Given the description of an element on the screen output the (x, y) to click on. 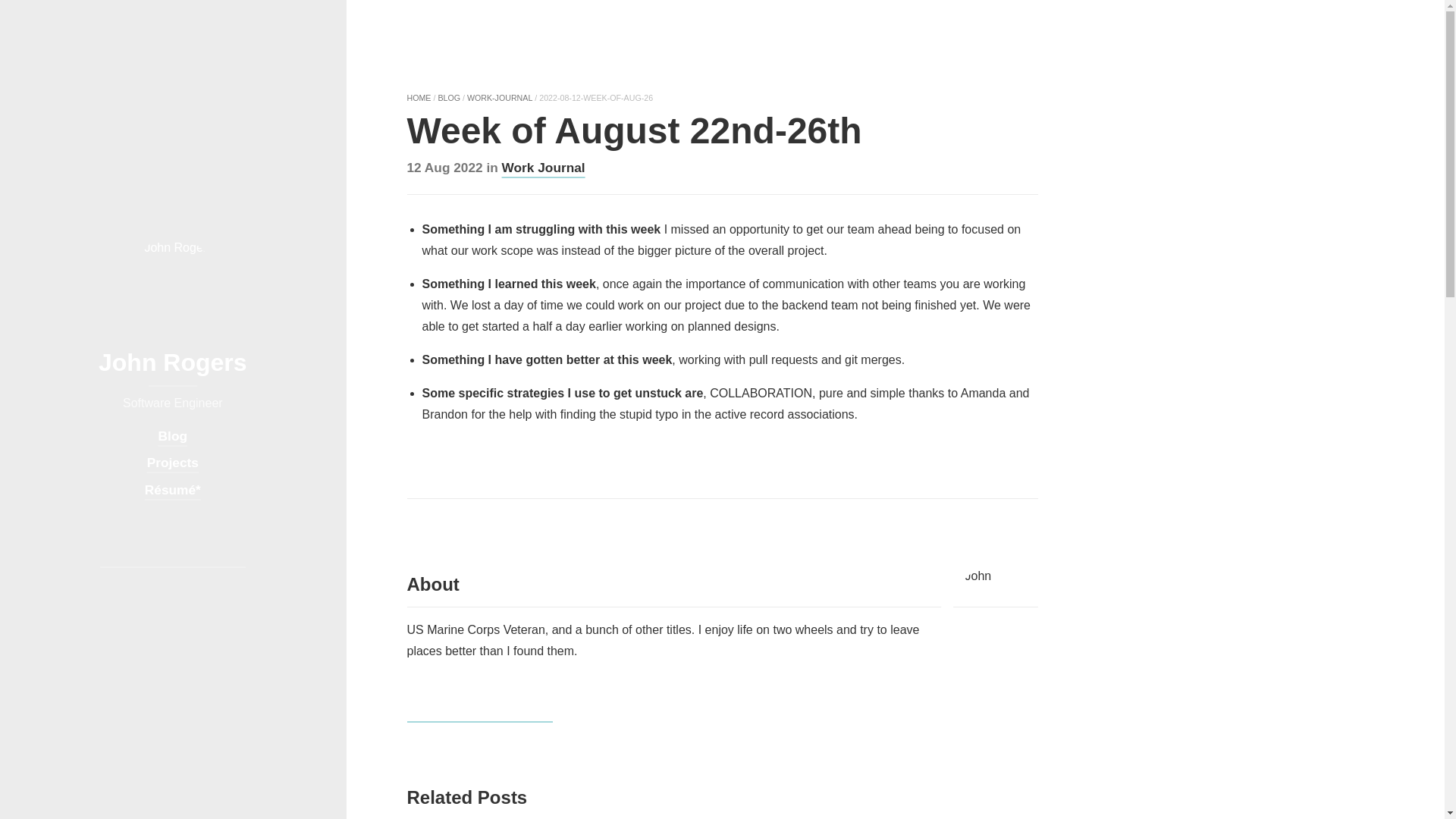
Work Journal (543, 167)
BLOG (449, 97)
Blog (172, 436)
John Rogers (173, 375)
Projects (172, 463)
WORK-JOURNAL (499, 97)
HOME (418, 97)
